Given the description of an element on the screen output the (x, y) to click on. 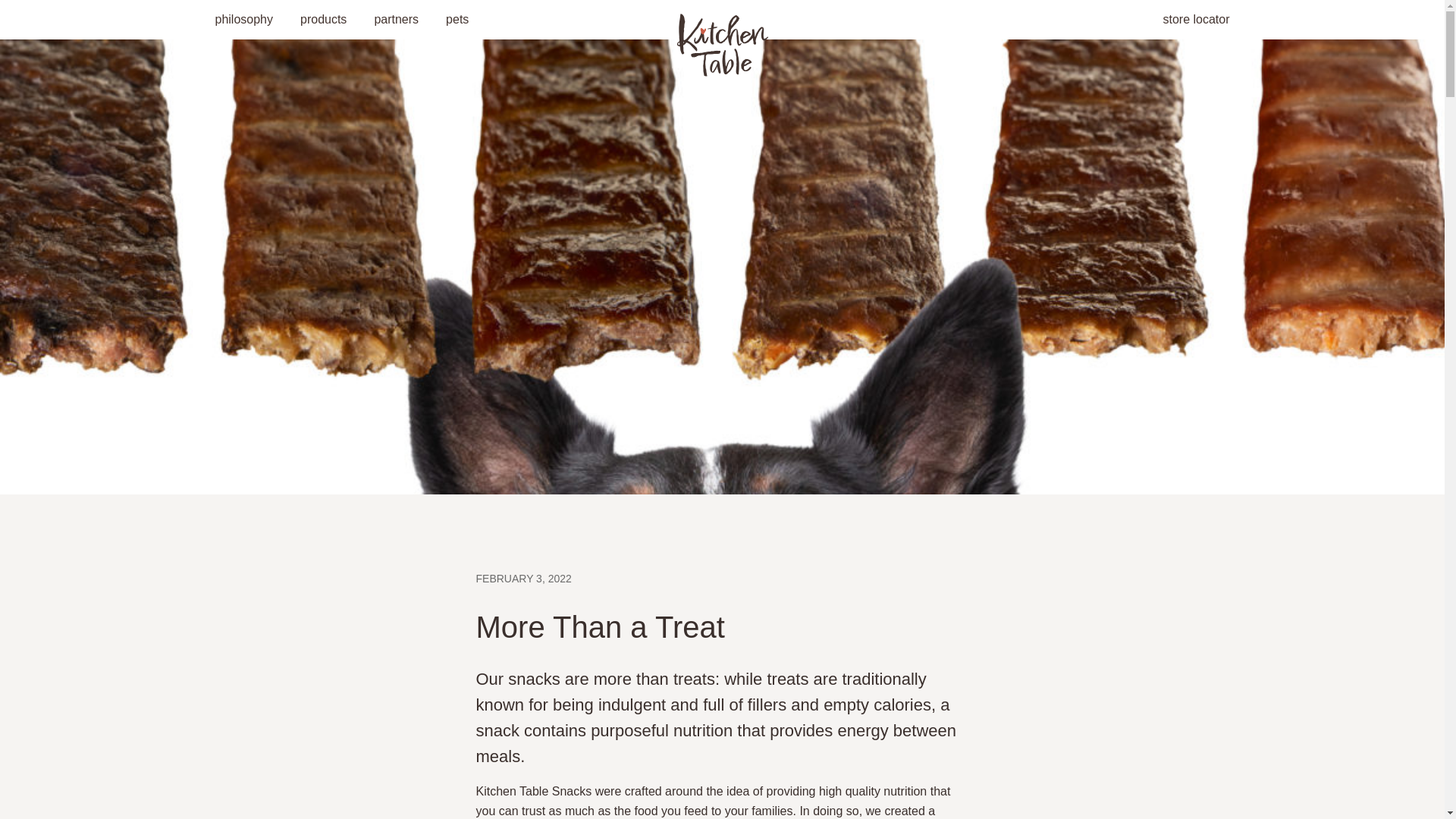
philosophy (244, 19)
products (322, 19)
store locator (1194, 19)
pets (456, 19)
partners (396, 19)
